Given the description of an element on the screen output the (x, y) to click on. 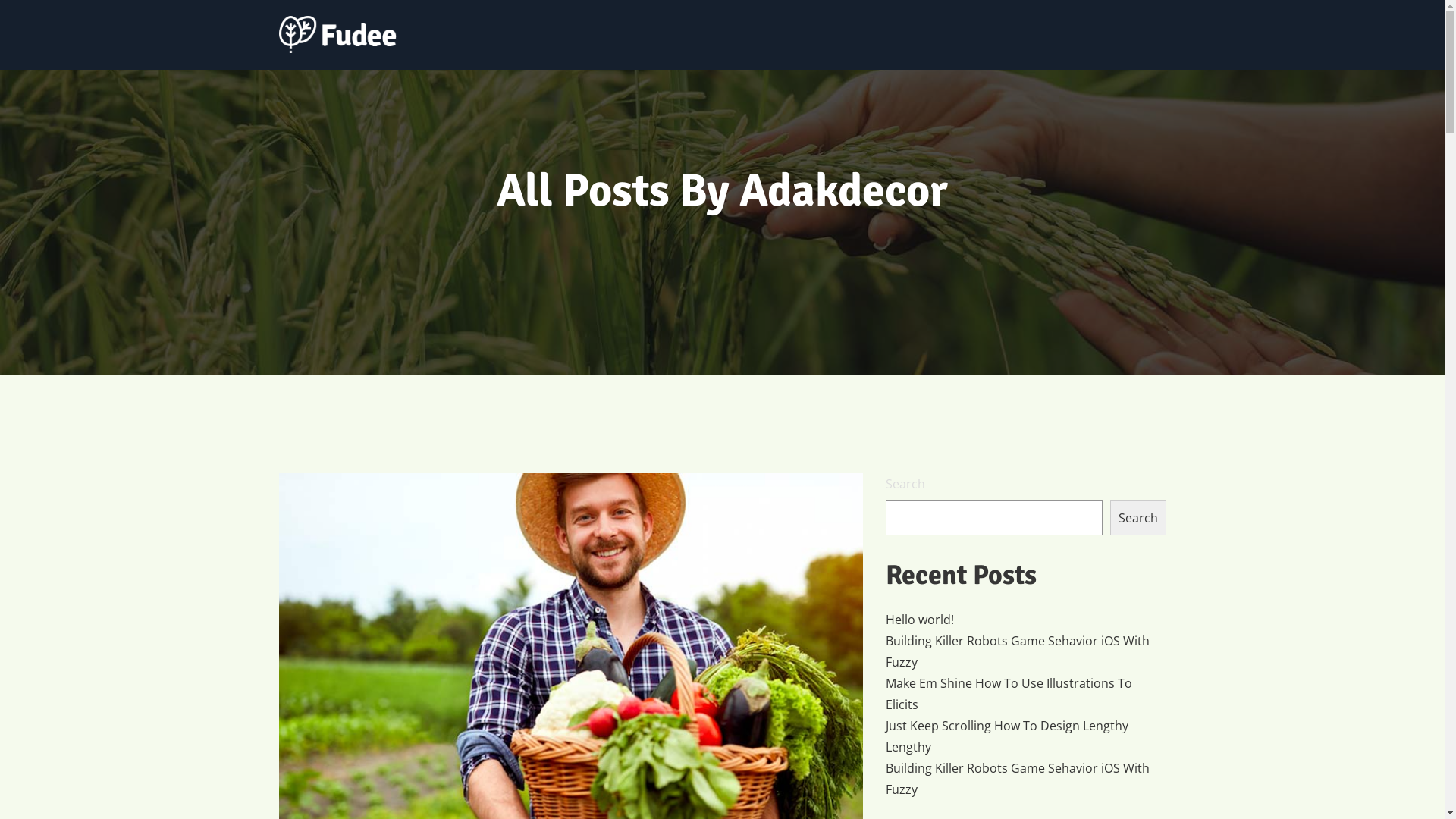
Make Em Shine How To Use Illustrations To Elicits Element type: text (1025, 693)
Just Keep Scrolling How To Design Lengthy Lengthy Element type: text (1025, 736)
Hello world! Element type: text (919, 619)
Building Killer Robots Game Sehavior iOS With Fuzzy Element type: text (1025, 778)
Search Element type: text (1138, 517)
Building Killer Robots Game Sehavior iOS With Fuzzy Element type: text (1025, 651)
